Given the description of an element on the screen output the (x, y) to click on. 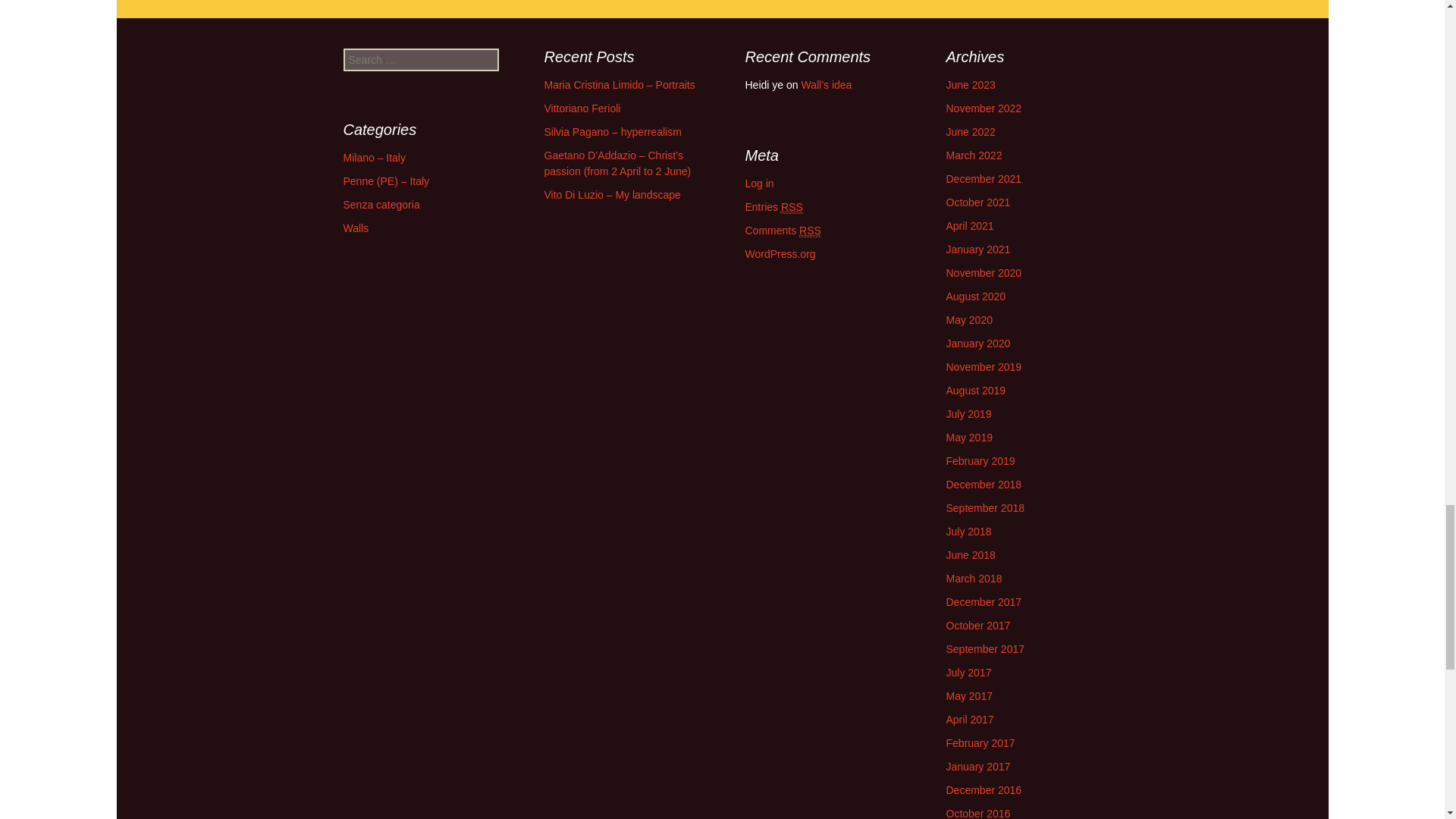
Really Simple Syndication (791, 206)
Search for: (419, 59)
Really Simple Syndication (810, 230)
